Given the description of an element on the screen output the (x, y) to click on. 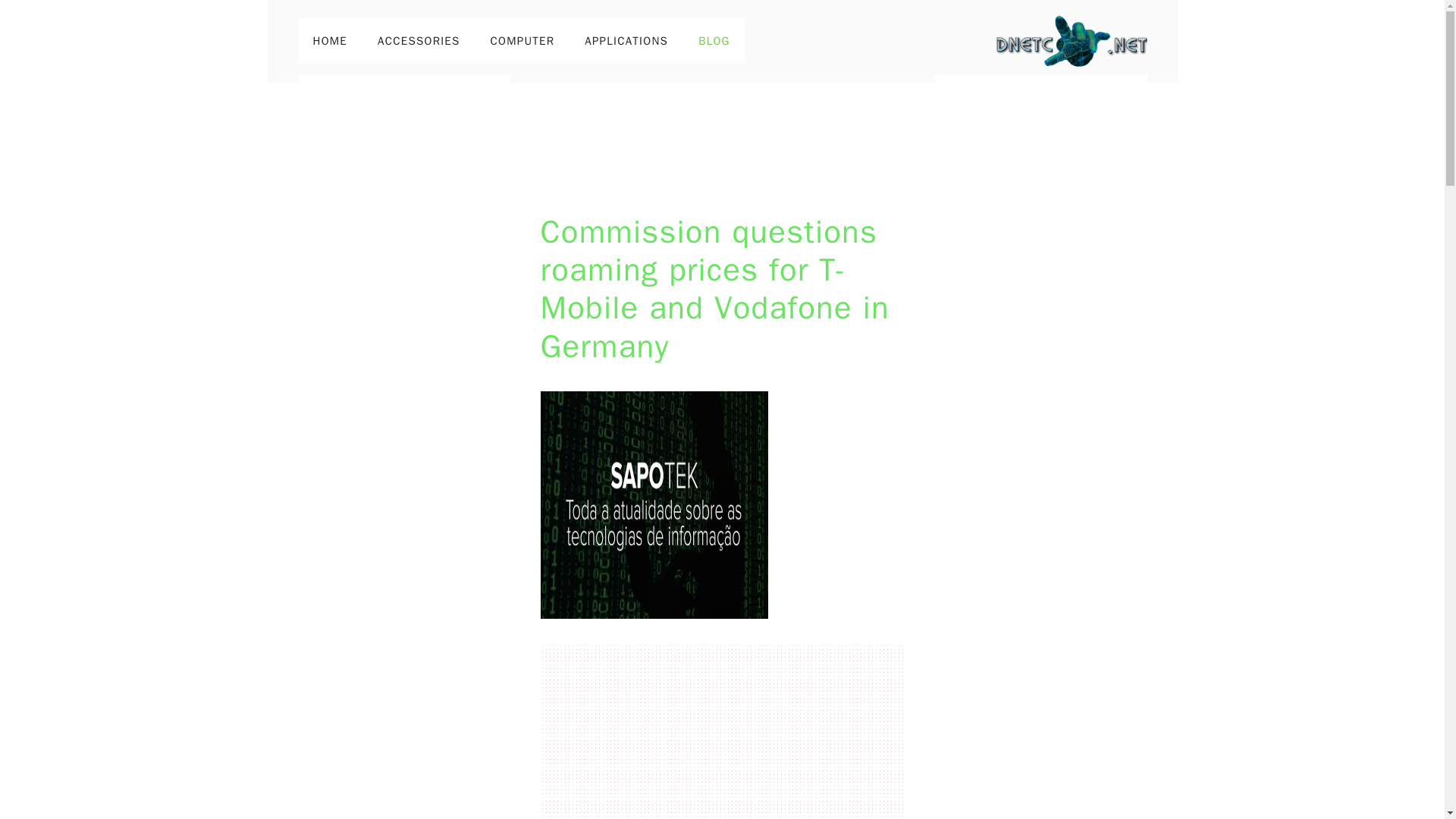
HOME (329, 40)
COMPUTER (523, 40)
BLOG (713, 40)
APPLICATIONS (625, 40)
ACCESSORIES (419, 40)
